Given the description of an element on the screen output the (x, y) to click on. 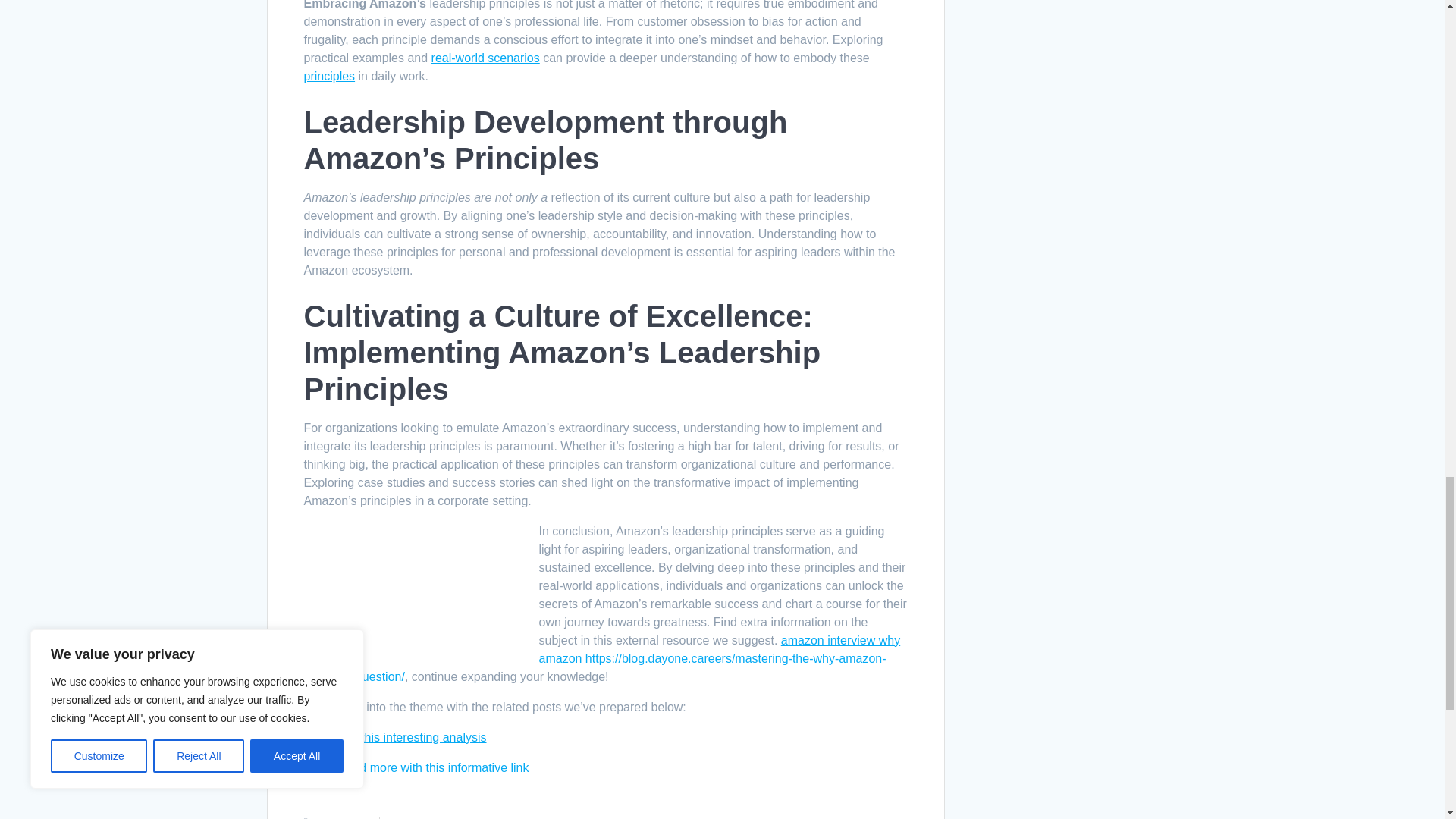
Understand more with this informative link (415, 767)
principles (328, 75)
Delve into this interesting analysis (394, 737)
real-world scenarios (485, 57)
